Given the description of an element on the screen output the (x, y) to click on. 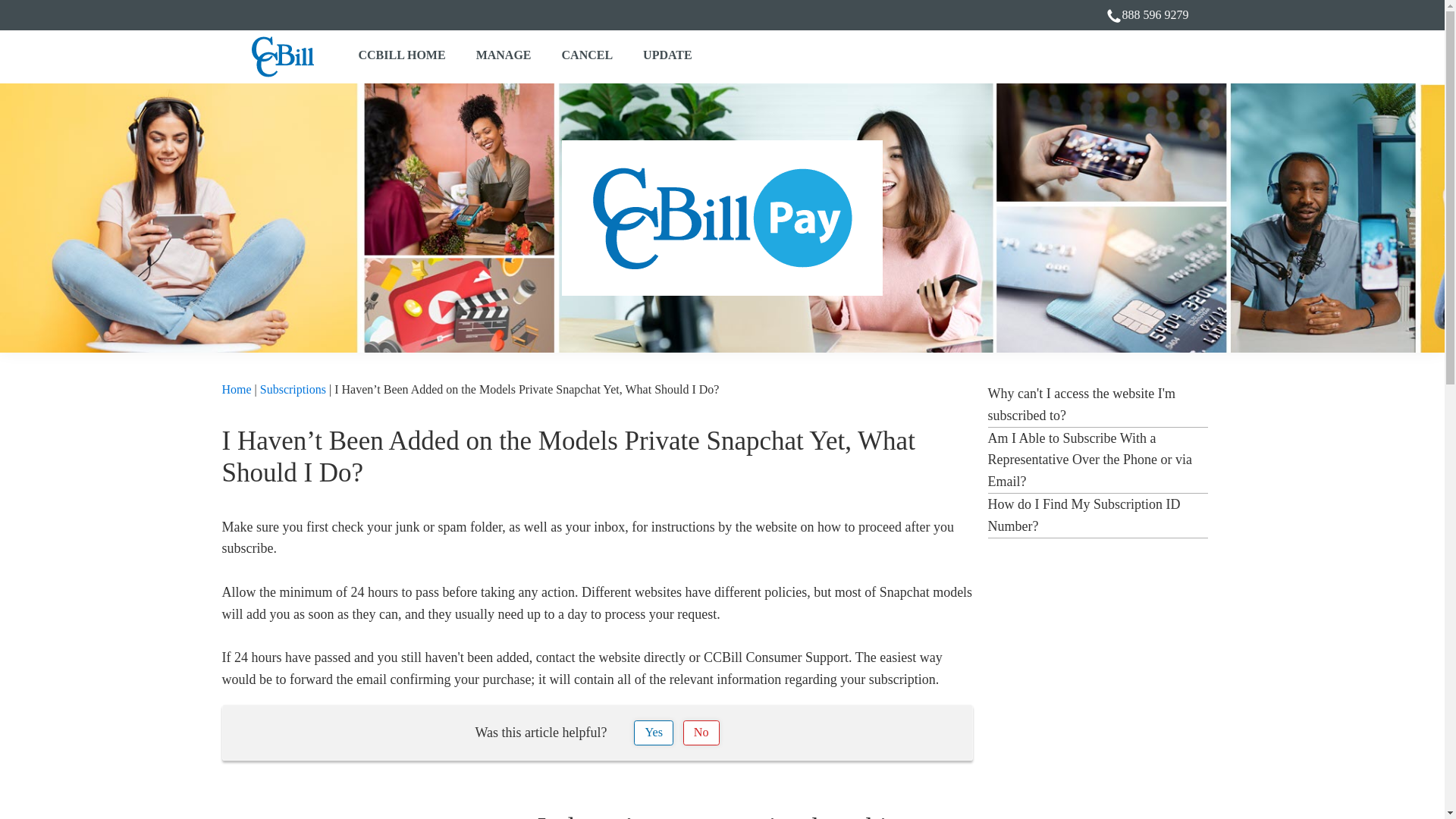
How do I Find My Subscription ID Number? (1083, 514)
CANCEL (587, 56)
Why can't I access the website I'm subscribed to? (1080, 404)
CCBILL HOME (401, 56)
Subscriptions (293, 389)
UPDATE (667, 56)
Home (235, 389)
MANAGE (504, 56)
888 596 9279 (1155, 14)
